Given the description of an element on the screen output the (x, y) to click on. 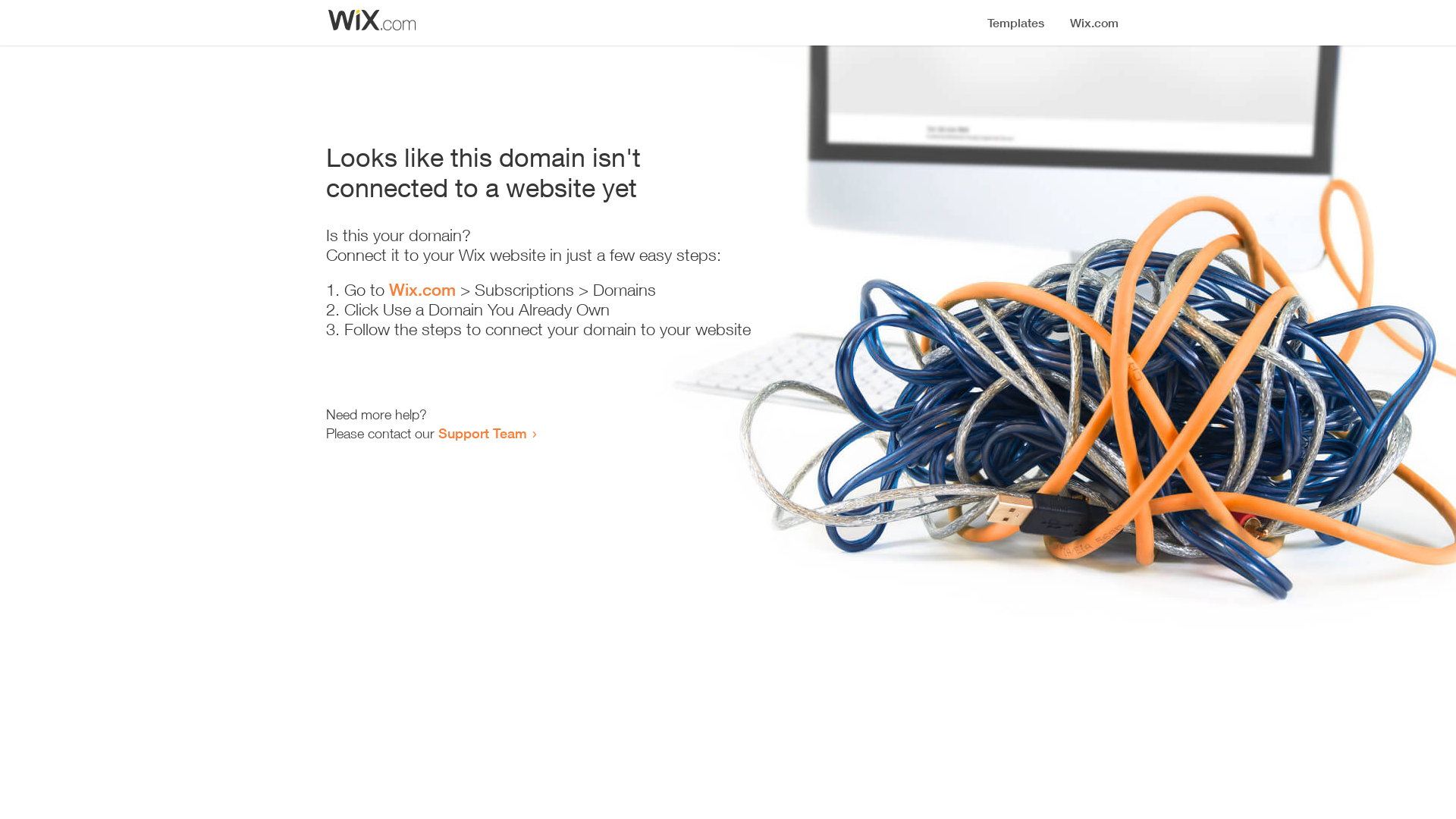
Support Team Element type: text (482, 432)
Wix.com Element type: text (422, 289)
